Given the description of an element on the screen output the (x, y) to click on. 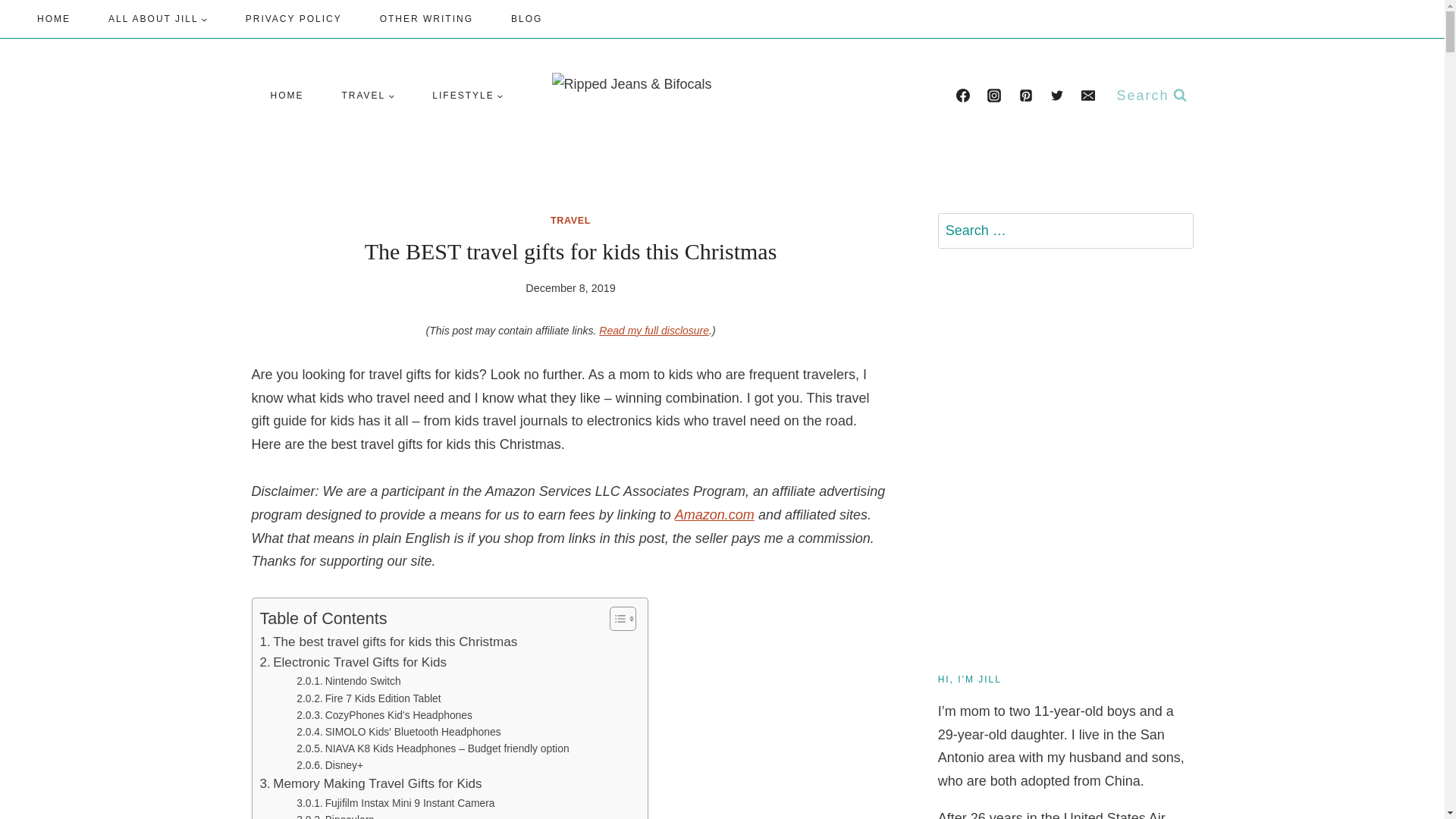
Search (1174, 230)
Fire 7 Kids Edition Tablet (369, 698)
Binoculars (335, 815)
SIMOLO Kids' Bluetooth Headphones (398, 731)
The best travel gifts for kids this Christmas (387, 641)
Electronic Travel Gifts for Kids (352, 661)
Search (1174, 230)
ALL ABOUT JILL (157, 18)
LIFESTYLE (467, 95)
Nintendo Switch (348, 680)
HOME (52, 18)
OTHER WRITING (426, 18)
PRIVACY POLICY (294, 18)
Electronic Travel Gifts for Kids (352, 661)
Nintendo Switch (348, 680)
